Given the description of an element on the screen output the (x, y) to click on. 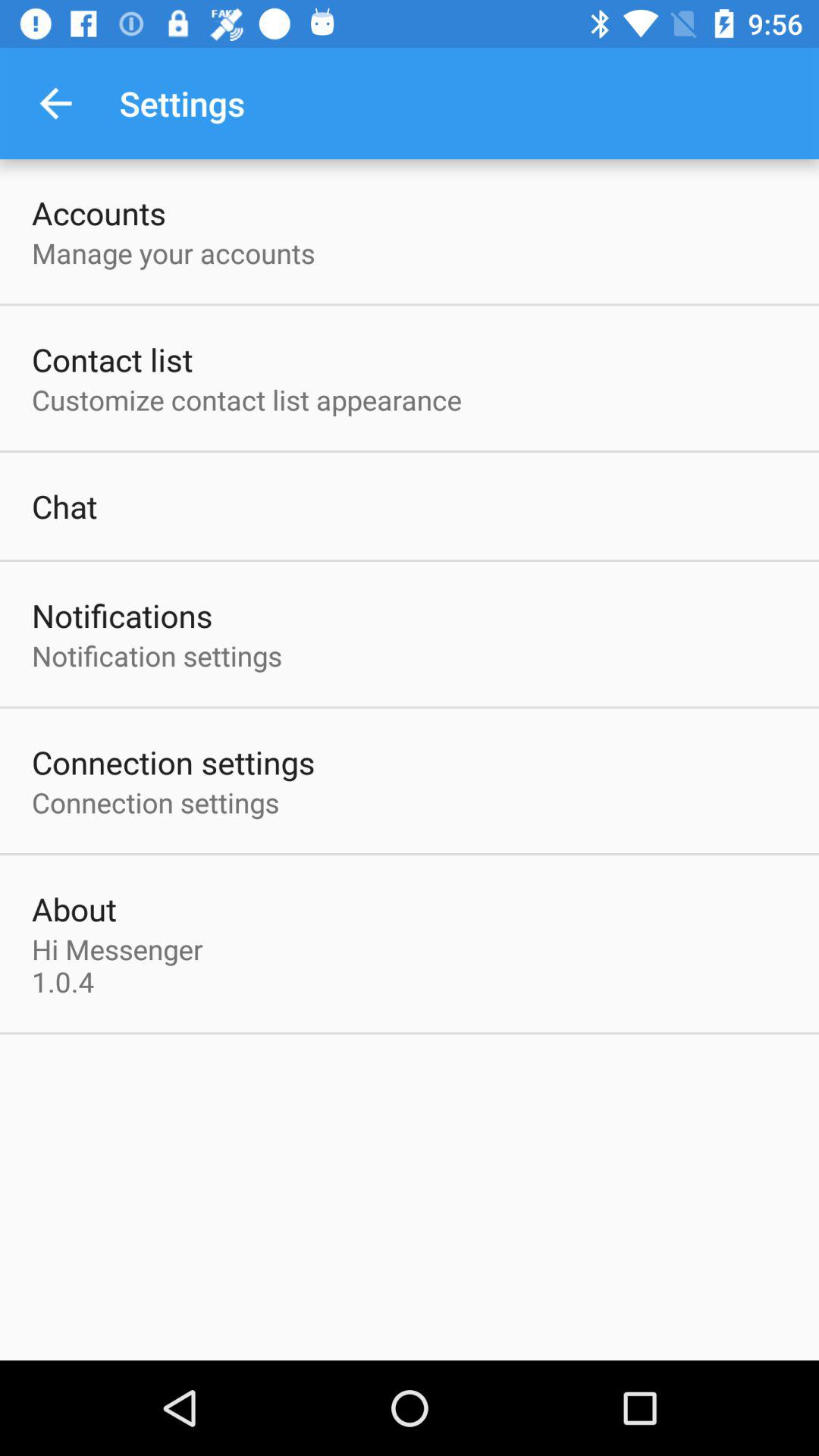
click icon below connection settings icon (73, 908)
